Given the description of an element on the screen output the (x, y) to click on. 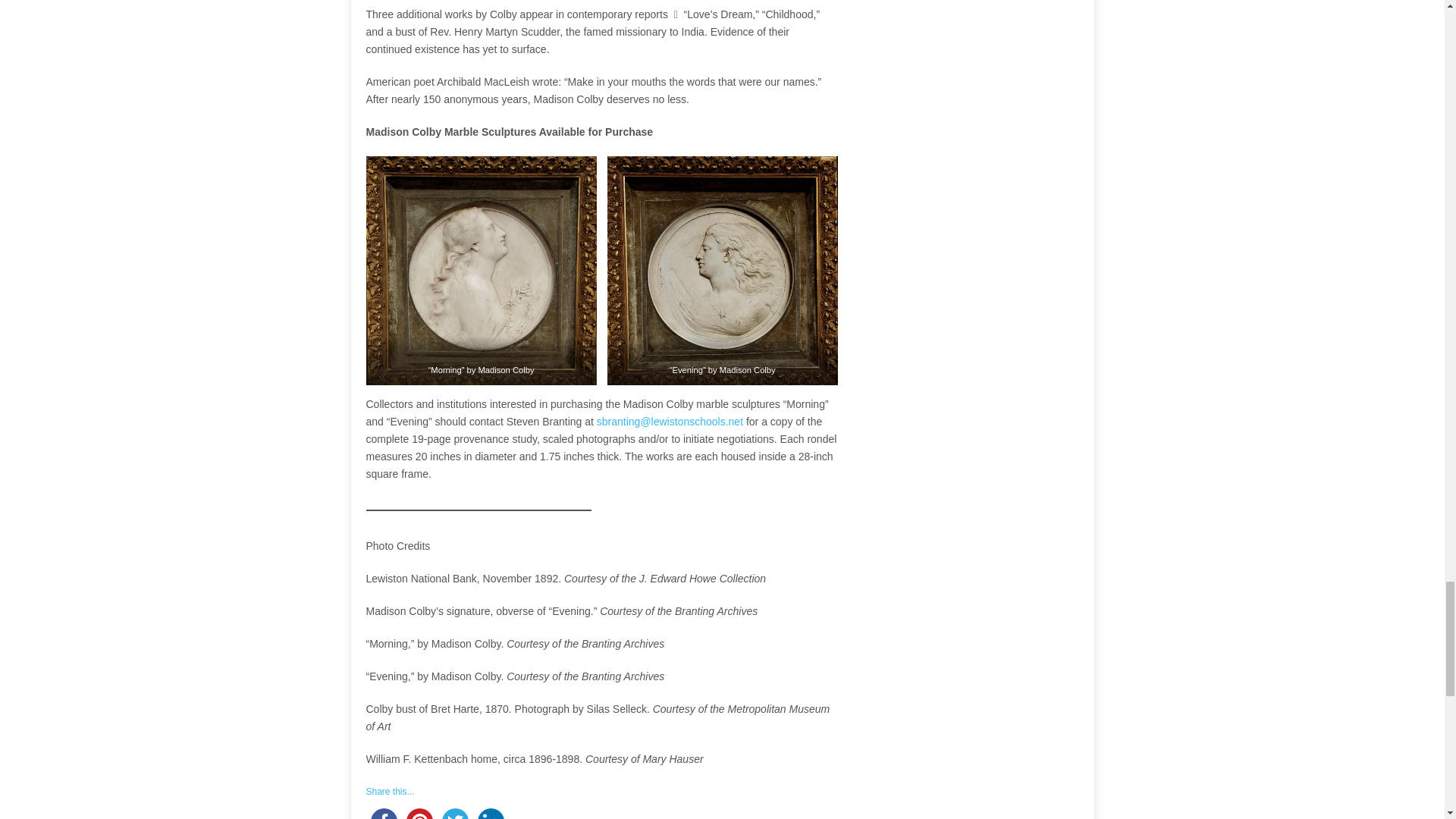
pinterest (419, 811)
linkedin (490, 811)
Share this... (389, 791)
facebook (383, 811)
twitter (453, 811)
